Given the description of an element on the screen output the (x, y) to click on. 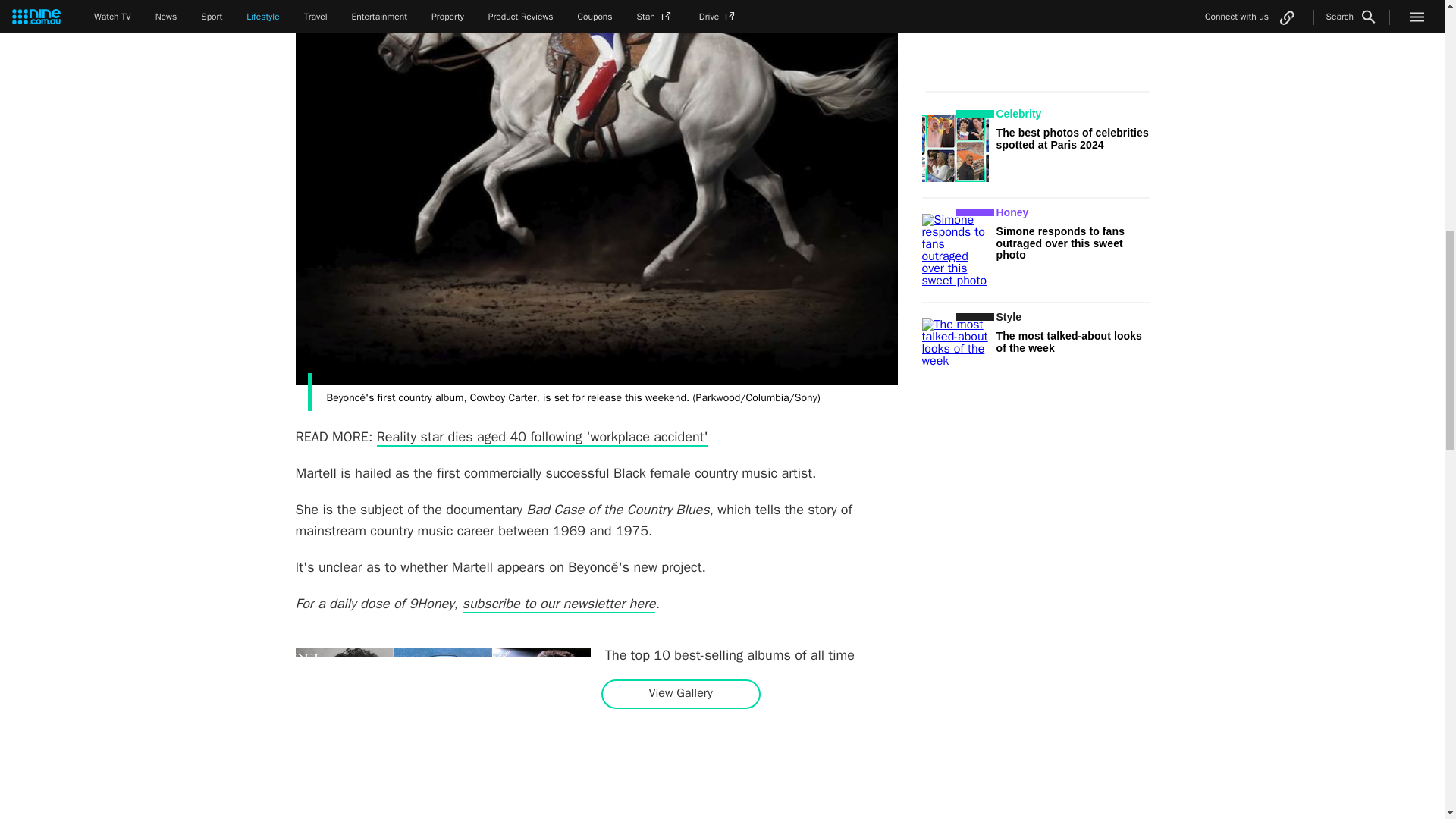
subscribe to our newsletter here (559, 604)
Reality star dies aged 40 following 'workplace accident' (542, 437)
View Gallery (680, 693)
subscribe to our newsletter here (559, 604)
Reality star dies aged 40 following 'workplace accident' (542, 437)
